Given the description of an element on the screen output the (x, y) to click on. 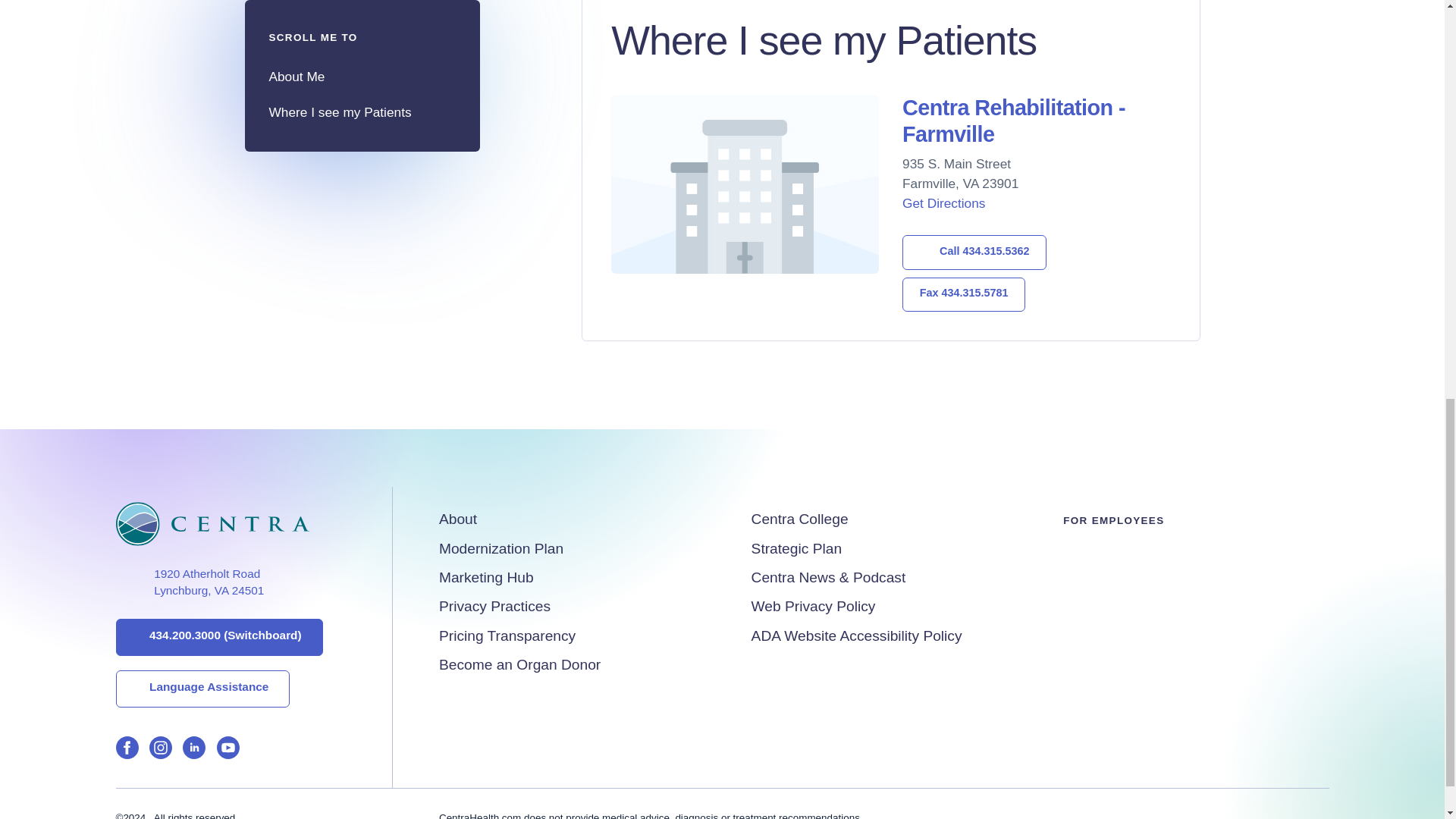
Get Directions (943, 202)
Call 434.315.5362 (974, 252)
LinkedIn (194, 750)
Fax 434.315.5781 (963, 294)
Instagram (160, 750)
Centra College (799, 518)
Marketing Hub (486, 577)
Modernization Plan (501, 548)
Youtube (228, 750)
Facebook (126, 750)
Strategic Plan (796, 548)
About (189, 582)
Language Assistance (458, 518)
Centra Rehabilitation - Farmville (202, 688)
